Given the description of an element on the screen output the (x, y) to click on. 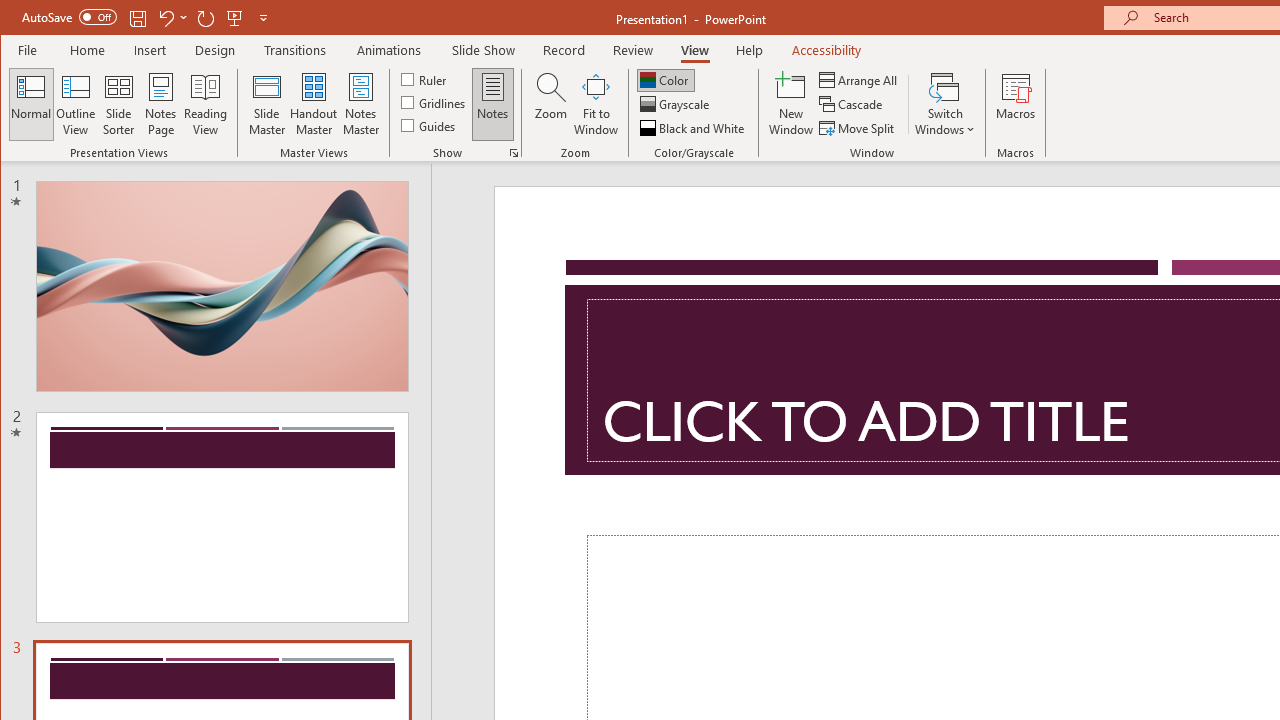
Move Split (858, 127)
Color (666, 80)
Macros (1016, 104)
Cascade (852, 103)
Grid Settings... (513, 152)
Notes Page (160, 104)
